Given the description of an element on the screen output the (x, y) to click on. 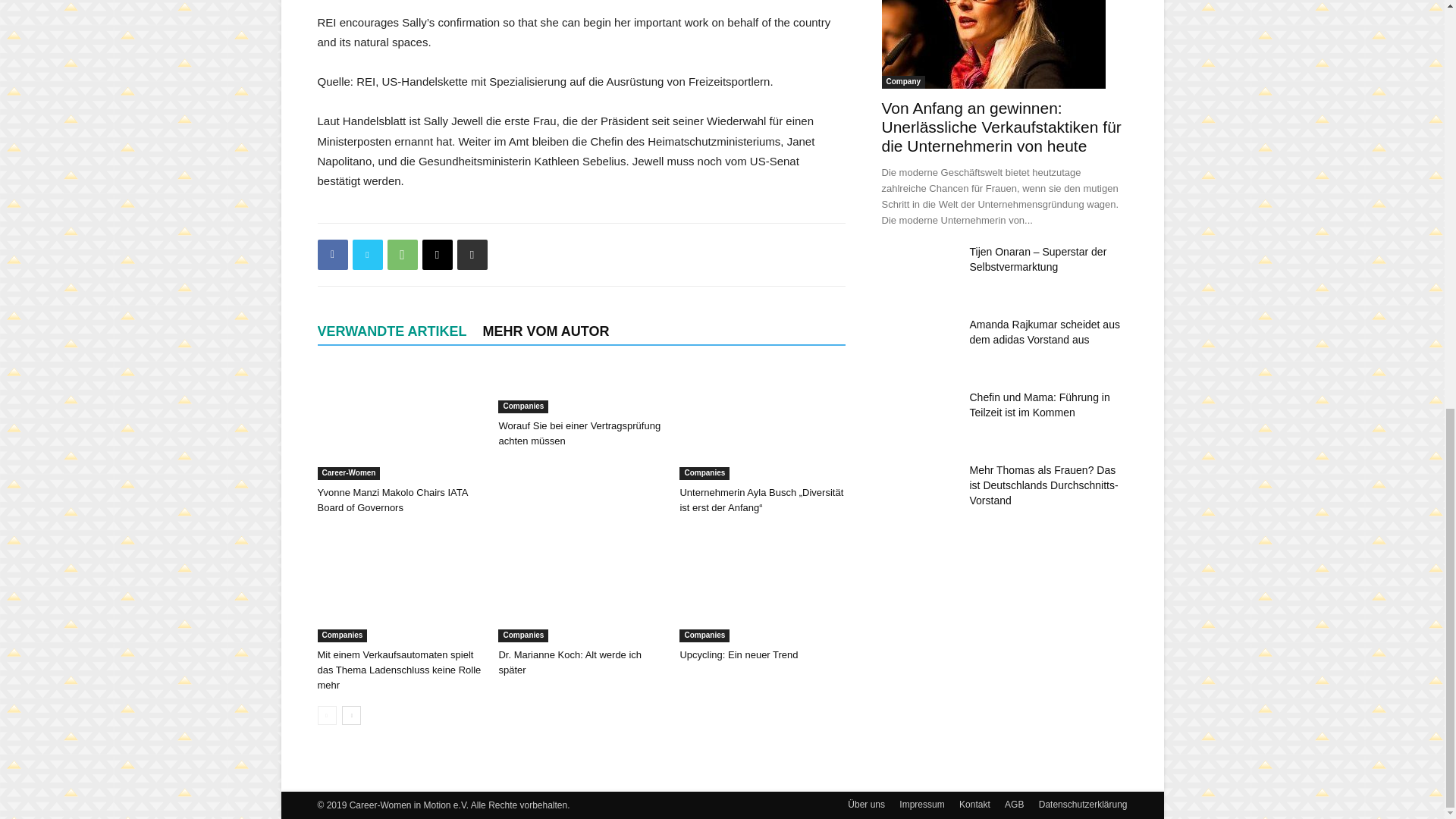
Twitter (366, 254)
Email (436, 254)
Facebook (332, 254)
Yvonne Manzi Makolo Chairs IATA Board of Governors (399, 422)
WhatsApp (401, 254)
Drucken (471, 254)
